Given the description of an element on the screen output the (x, y) to click on. 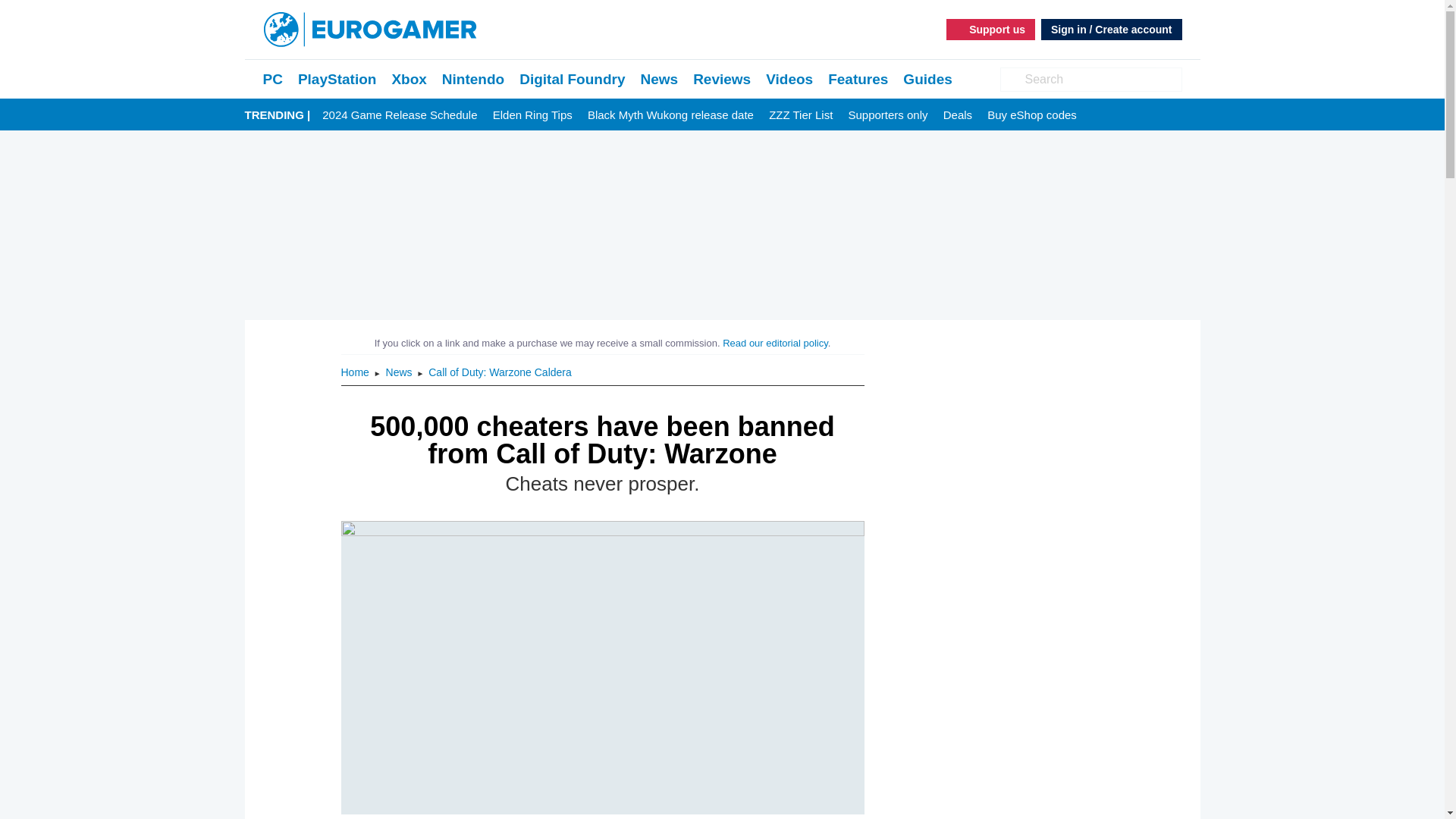
News (659, 78)
PlayStation (336, 78)
Reviews (722, 78)
2024 Game Release Schedule (399, 114)
PlayStation (336, 78)
Buy eShop codes (1032, 114)
Reviews (722, 78)
ZZZ Tier List (800, 114)
Call of Duty: Warzone Caldera (500, 372)
Elden Ring Tips (532, 114)
